Given the description of an element on the screen output the (x, y) to click on. 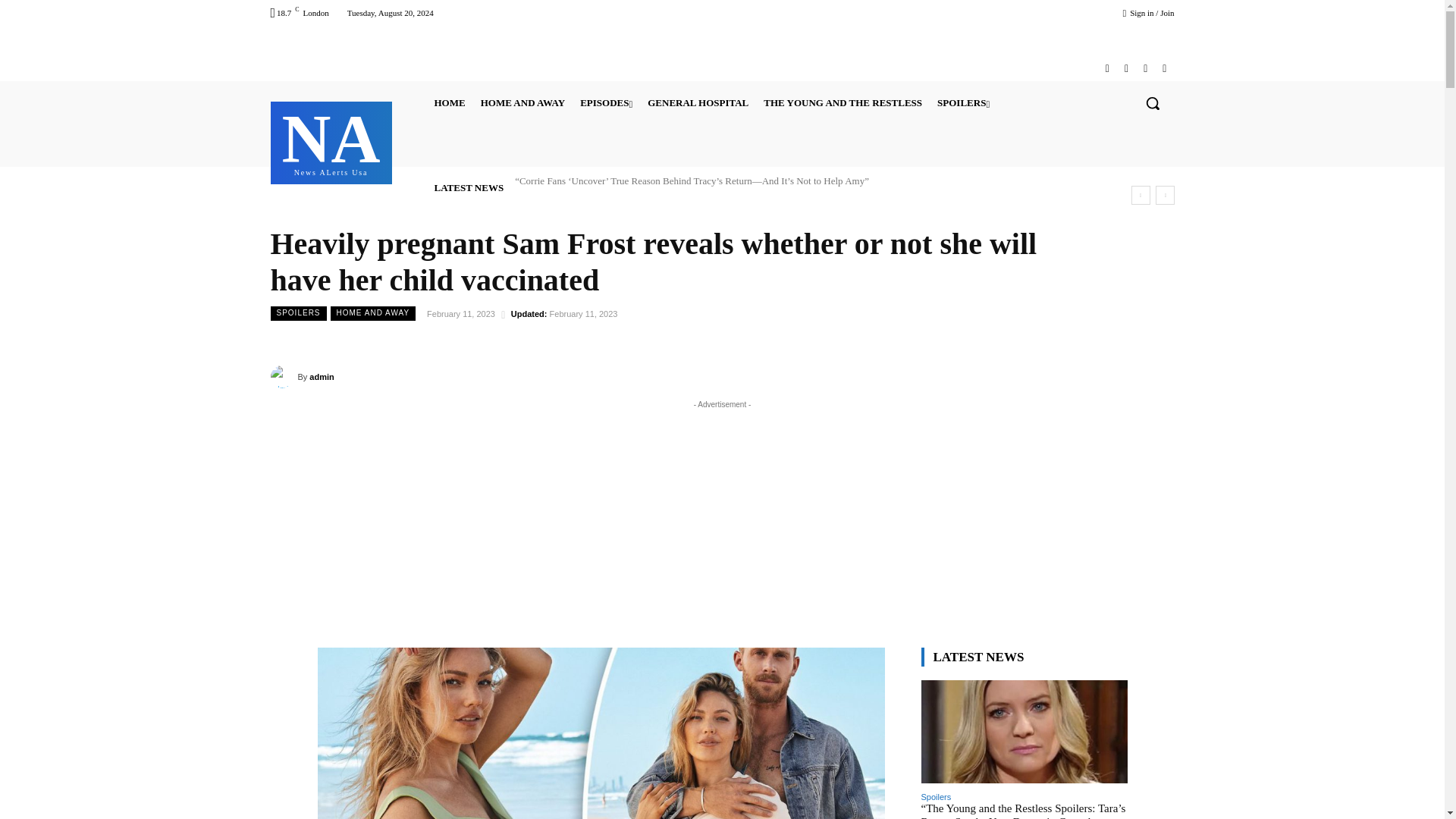
HOME (449, 102)
HOME AND AWAY (522, 102)
EPISODES (606, 102)
GENERAL HOSPITAL (698, 102)
THE YOUNG AND THE RESTLESS (331, 140)
SPOILERS (842, 102)
Facebook (963, 102)
